Given the description of an element on the screen output the (x, y) to click on. 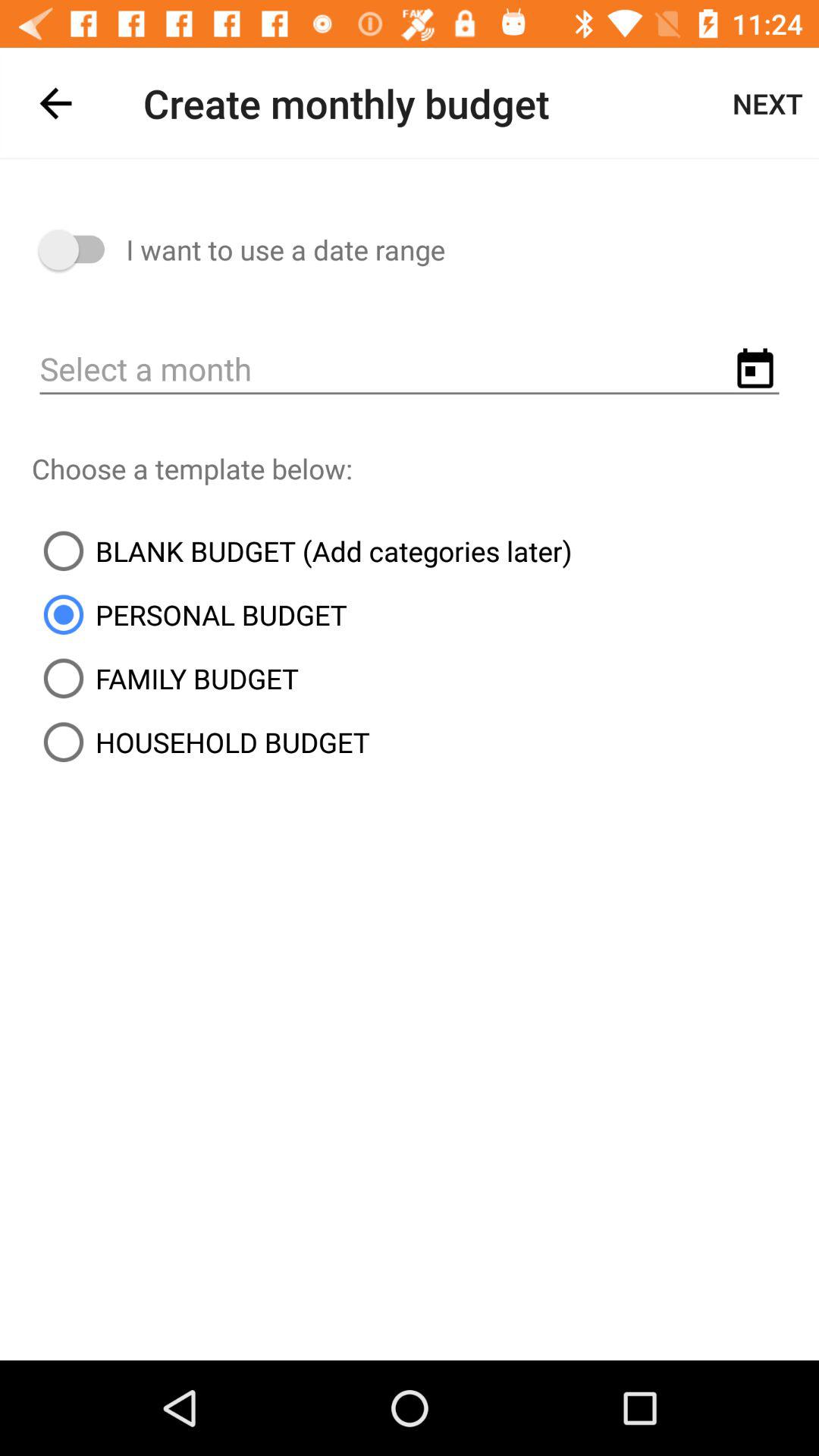
launch the household budget (200, 742)
